Given the description of an element on the screen output the (x, y) to click on. 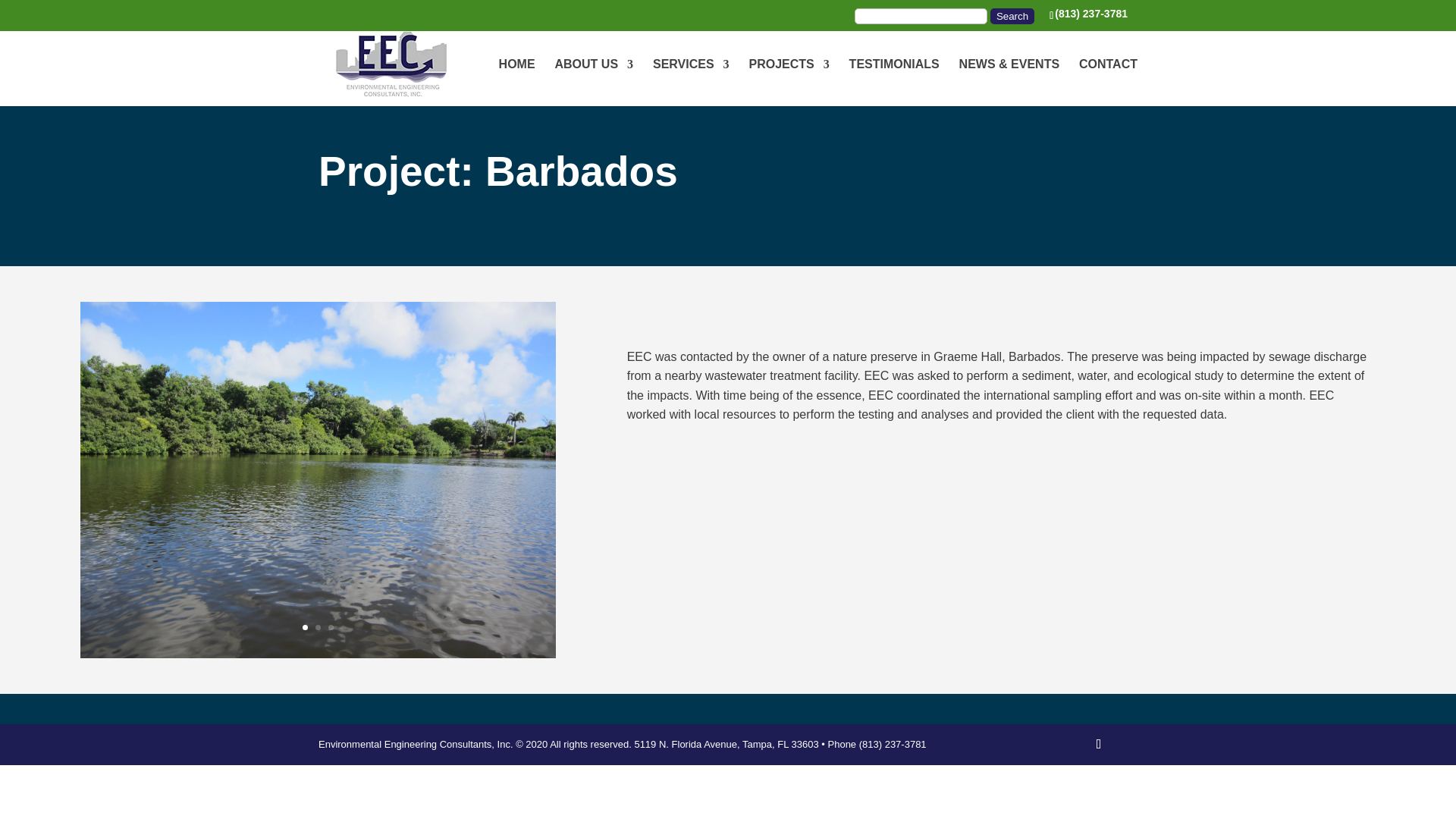
Search (1011, 15)
nature preserve in Graeme Hall, Barbados (318, 654)
PROJECTS (788, 82)
TESTIMONIALS (893, 82)
SERVICES (690, 82)
Search (1011, 15)
ABOUT US (593, 82)
CONTACT (1107, 82)
